Given the description of an element on the screen output the (x, y) to click on. 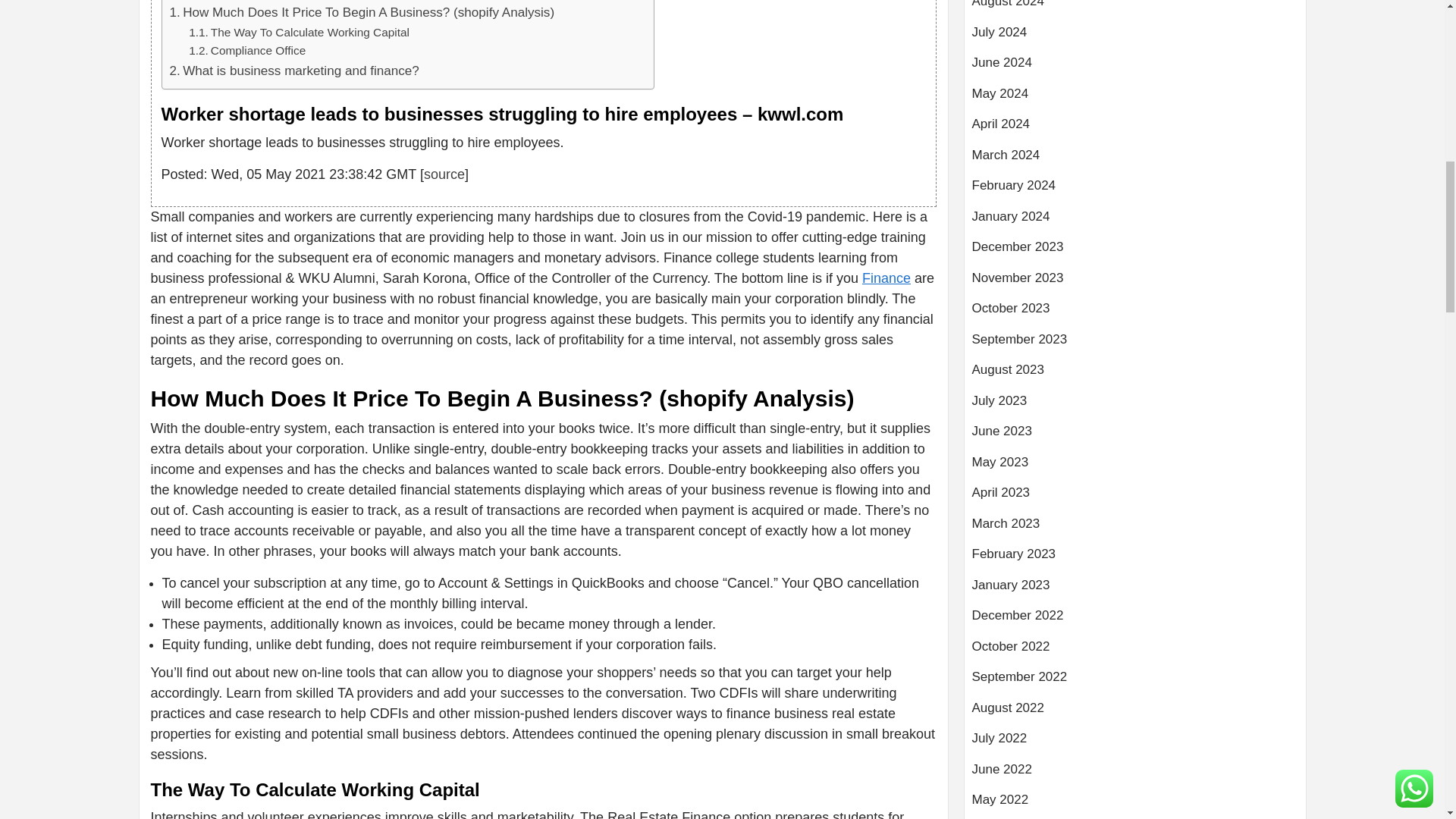
What is business marketing and finance? (294, 70)
The Way To Calculate Working Capital (299, 32)
What is business marketing and finance? (294, 70)
The Way To Calculate Working Capital (299, 32)
Finance (886, 278)
source (443, 174)
Compliance Office (247, 50)
Compliance Office (247, 50)
